Given the description of an element on the screen output the (x, y) to click on. 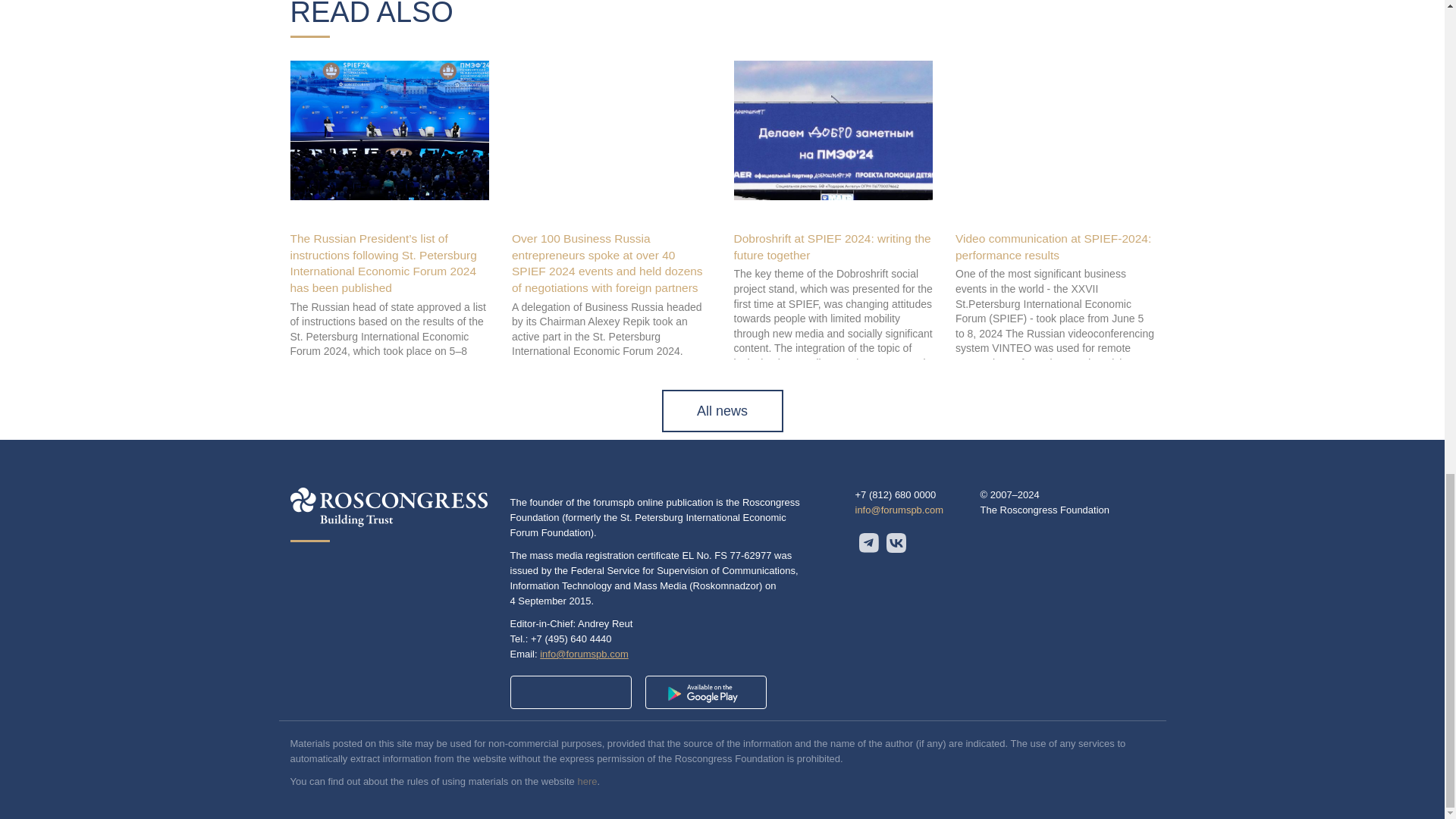
Dobroshrift at SPIEF 2024: writing the future together (832, 246)
Video communication at SPIEF-2024: performance results (1053, 246)
here (586, 781)
All news (722, 410)
